Given the description of an element on the screen output the (x, y) to click on. 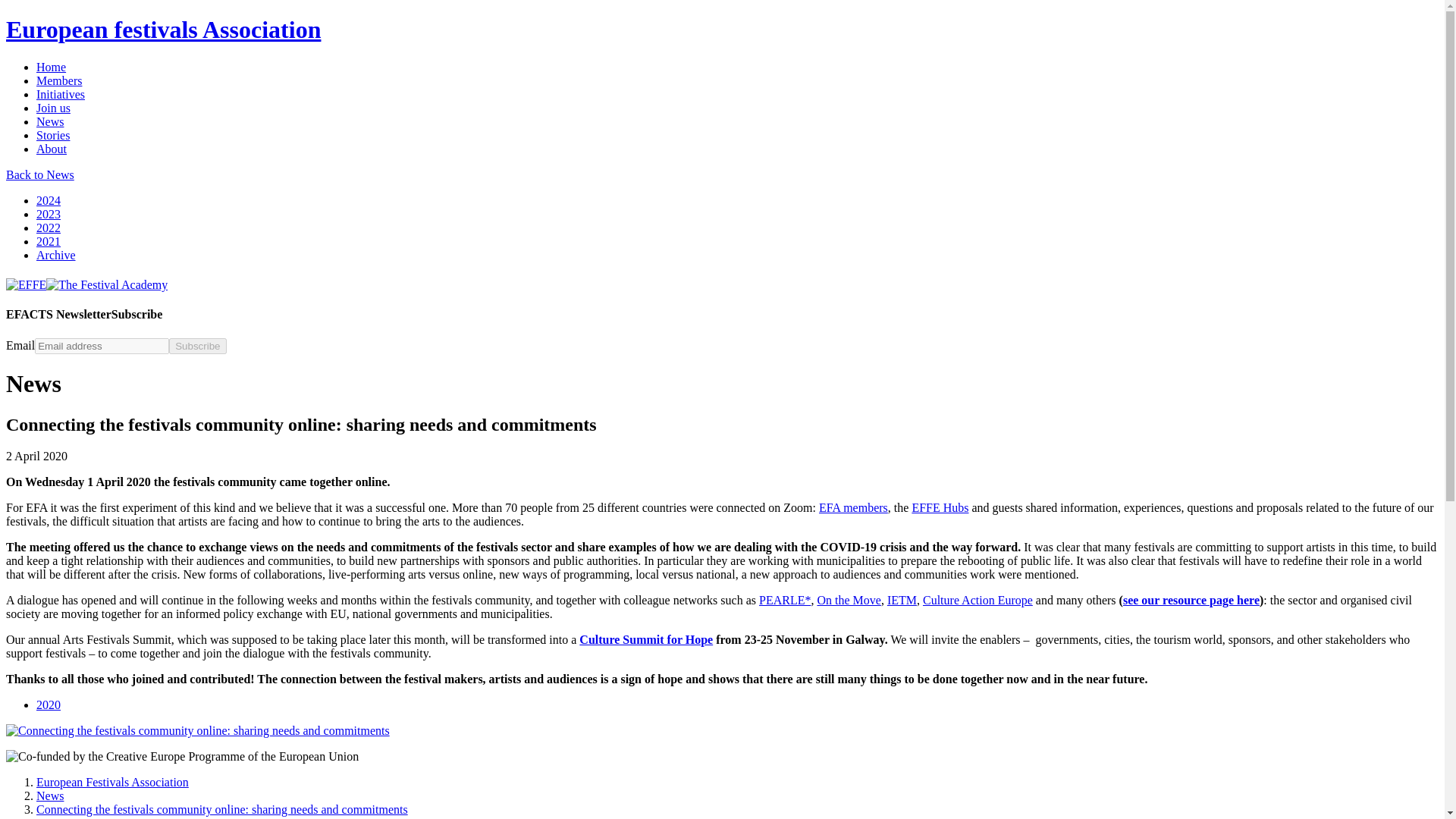
Stories (52, 134)
EFFE Hubs (939, 507)
Home (50, 66)
2020 (48, 704)
Archive (55, 254)
2023 (48, 214)
IETM (901, 599)
2021 (48, 241)
Home (50, 66)
